Given the description of an element on the screen output the (x, y) to click on. 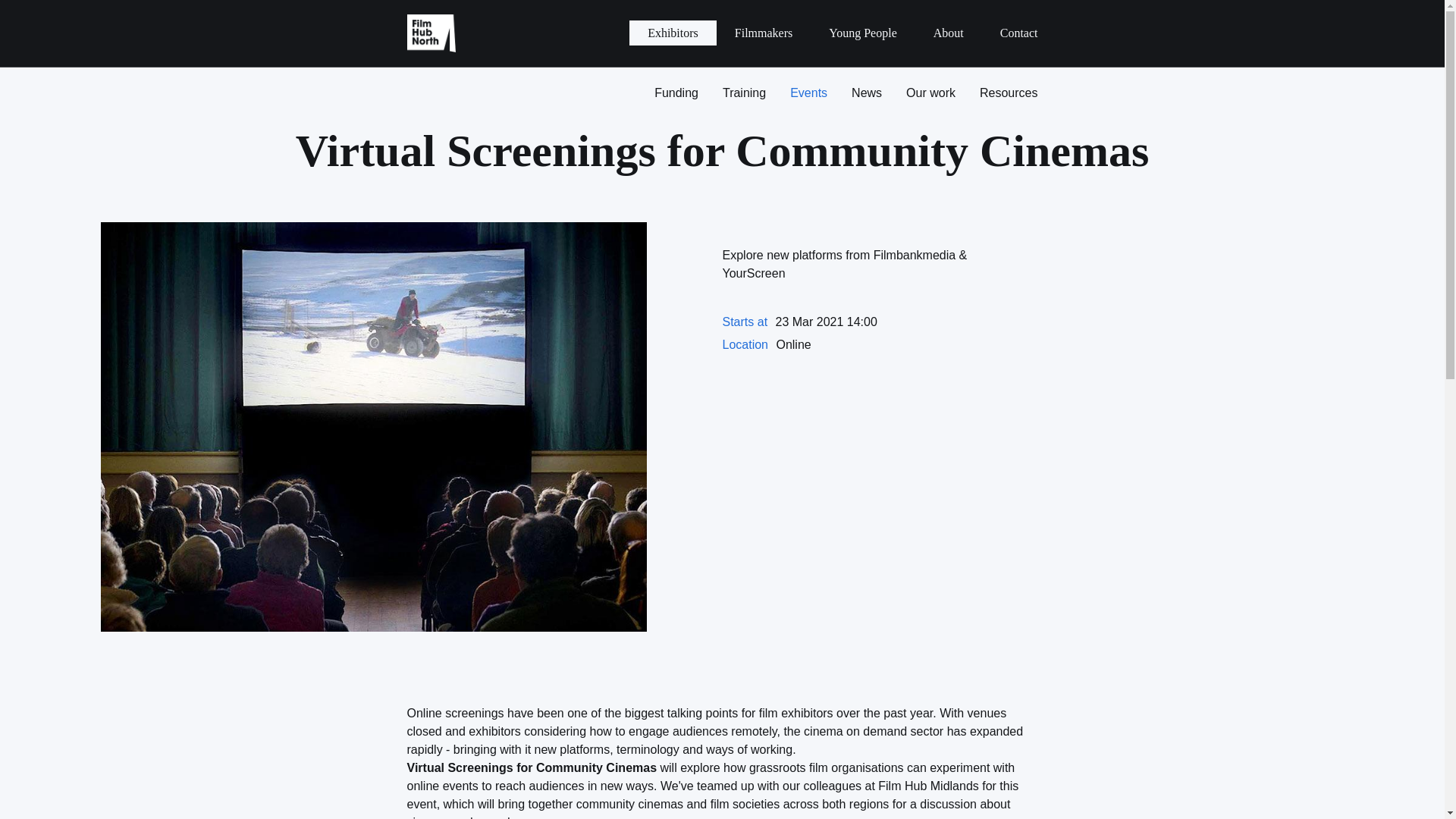
Exhibitors (672, 32)
Our work  (930, 93)
News Explore our news for exhibitors (866, 93)
News (866, 93)
Funding (676, 93)
Events (808, 93)
About (948, 32)
Contact (1019, 32)
Resources (1008, 93)
